Given the description of an element on the screen output the (x, y) to click on. 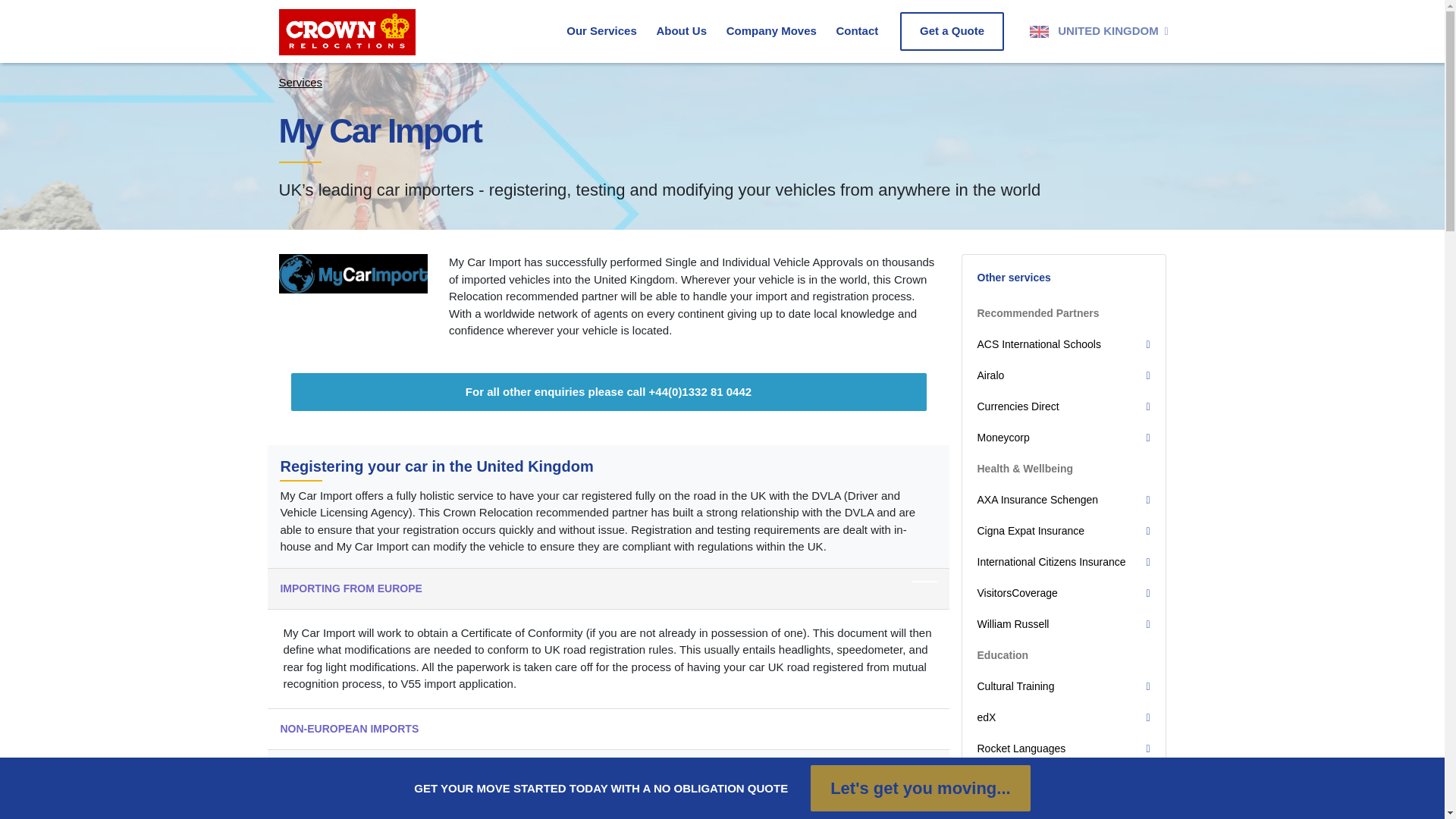
Contact (856, 31)
Company Moves (771, 31)
Home (381, 31)
UNITED KINGDOM (1091, 31)
Services (601, 31)
Company Moves (771, 31)
crown relocations (381, 31)
About Us (681, 31)
Get a Quote (951, 31)
Our Services (601, 31)
